Given the description of an element on the screen output the (x, y) to click on. 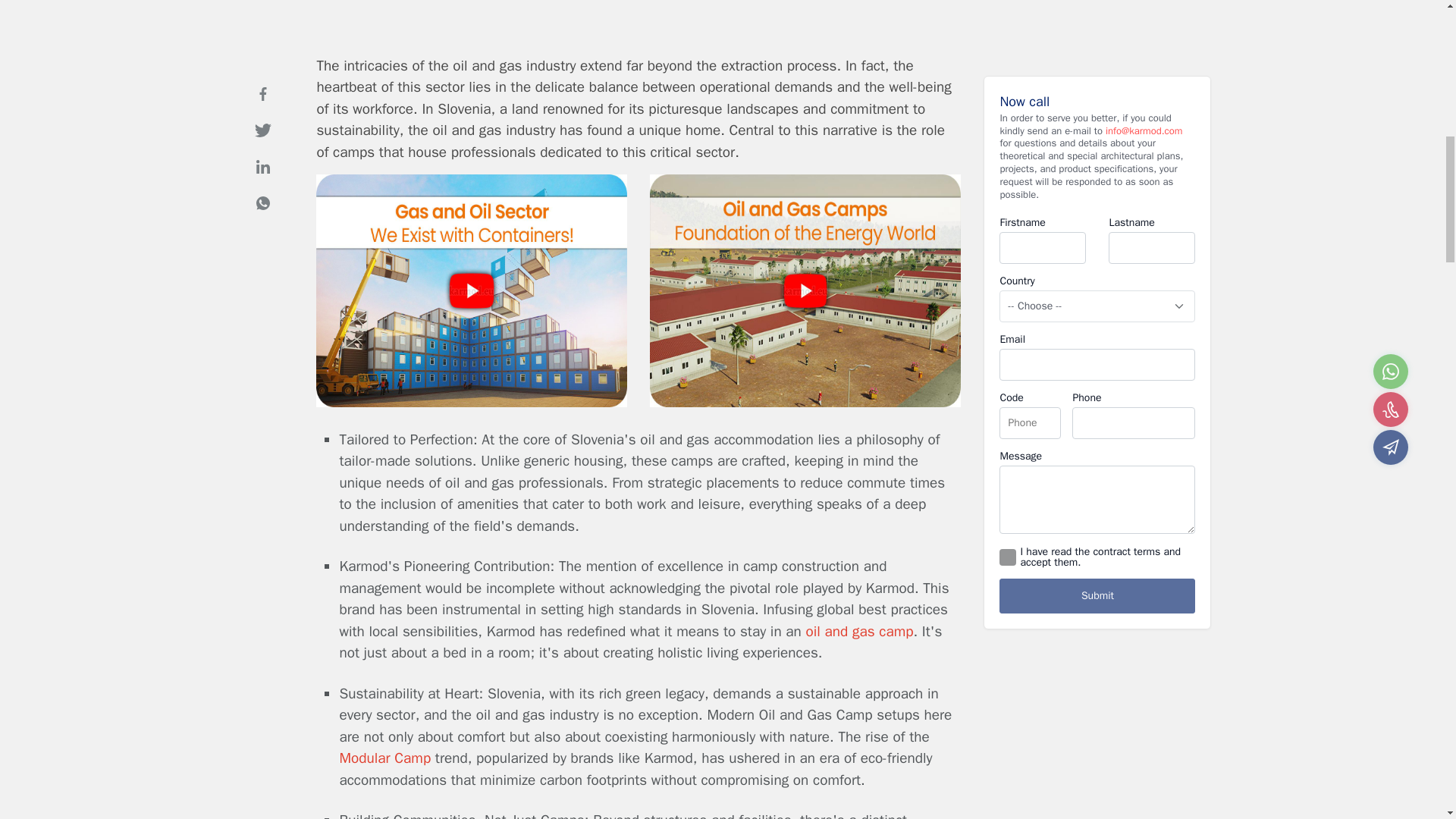
Slovenia Oil and Gas Camps (804, 402)
oil and gas camp (860, 631)
Whatsapp (262, 182)
Twitter (262, 110)
Modular Camp (384, 758)
Slovenia Oil and Gas Camps (471, 402)
Facebook (262, 73)
Linkedin (262, 146)
on (1007, 536)
